Given the description of an element on the screen output the (x, y) to click on. 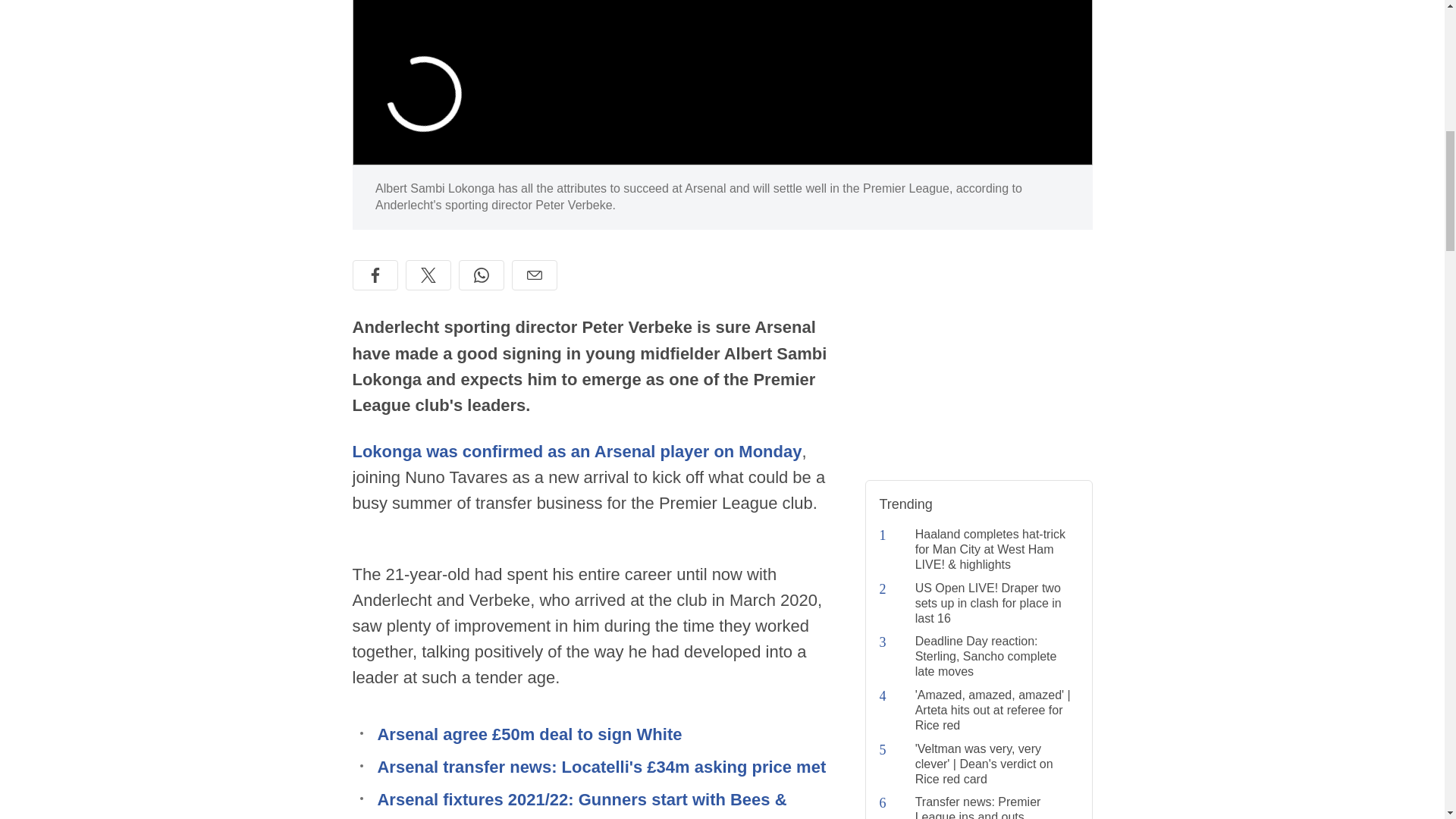
Share on X (426, 275)
Share on Facebook (374, 275)
Share by email (533, 275)
Share on WhatsApp (480, 275)
